Given the description of an element on the screen output the (x, y) to click on. 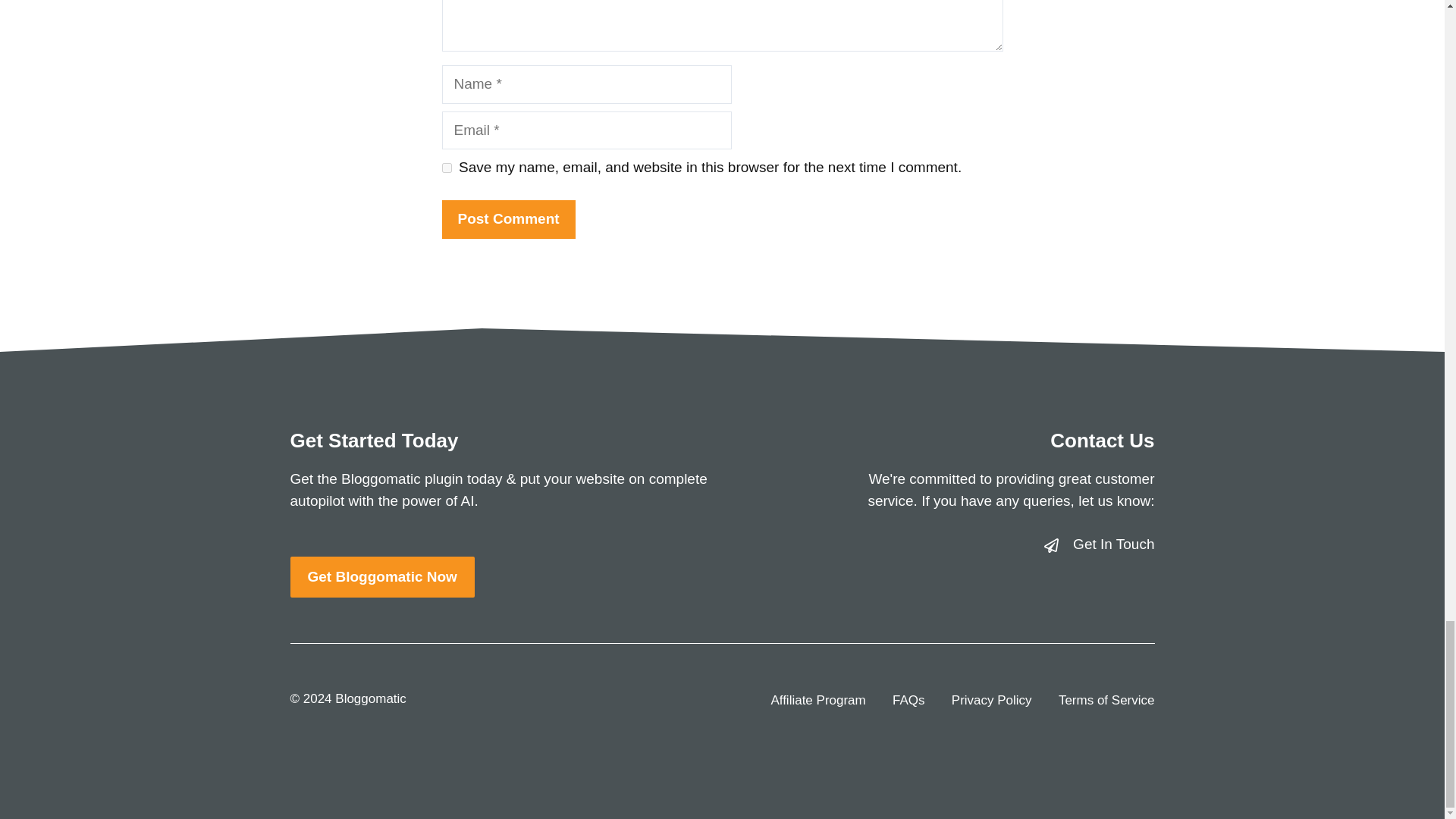
Get Bloggomatic Now (381, 577)
Post Comment (508, 219)
Privacy Policy (992, 700)
Affiliate Program (817, 700)
Post Comment (508, 219)
Terms of Service (1106, 700)
Get In Touch (1113, 544)
yes (446, 167)
FAQs (908, 700)
